Given the description of an element on the screen output the (x, y) to click on. 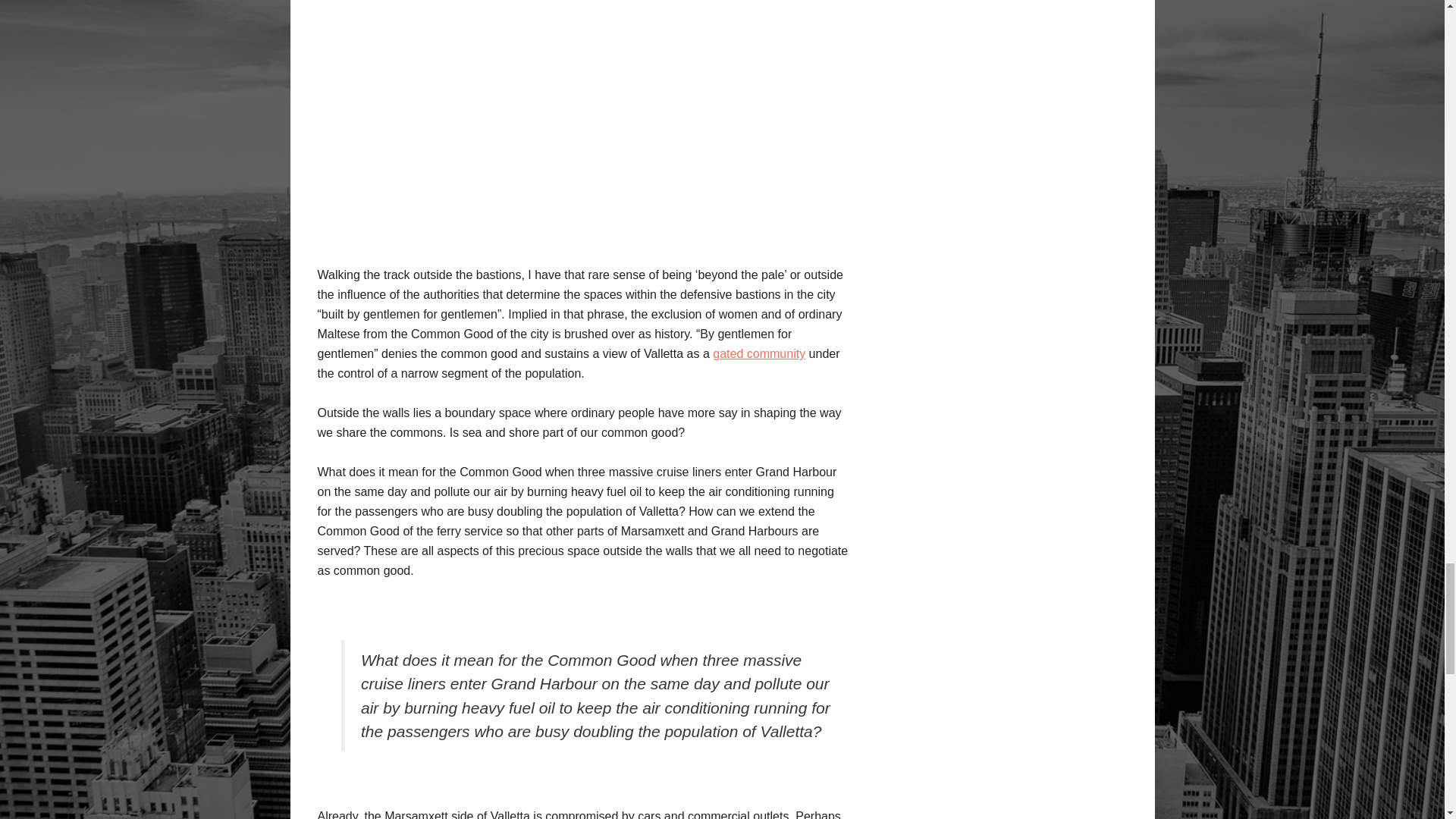
gated community (759, 353)
